Given the description of an element on the screen output the (x, y) to click on. 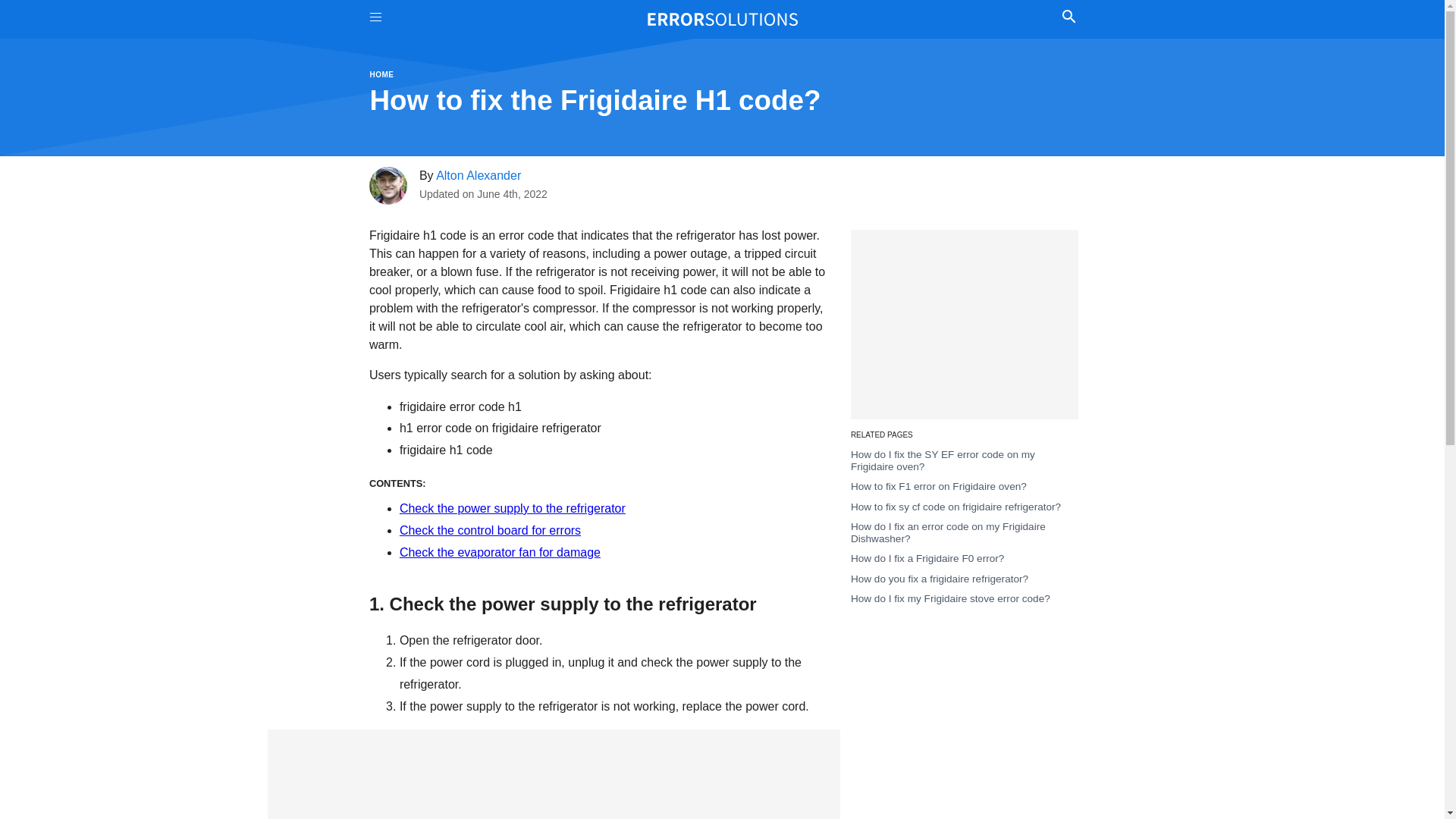
How do I fix an error code on my Frigidaire Dishwasher? (947, 531)
Check the control board for errors (489, 530)
Alton Alexander (478, 174)
How to fix sy cf code on frigidaire refrigerator? (955, 506)
Advertisement (964, 324)
Advertisement (553, 774)
How do I fix the SY EF error code on my Frigidaire oven? (942, 460)
HOME (381, 74)
How do I fix a Frigidaire F0 error? (927, 558)
Check the evaporator fan for damage (498, 552)
How do you fix a frigidaire refrigerator? (938, 578)
How to fix F1 error on Frigidaire oven? (938, 486)
Check the power supply to the refrigerator (512, 508)
How do I fix my Frigidaire stove error code? (949, 598)
